Given the description of an element on the screen output the (x, y) to click on. 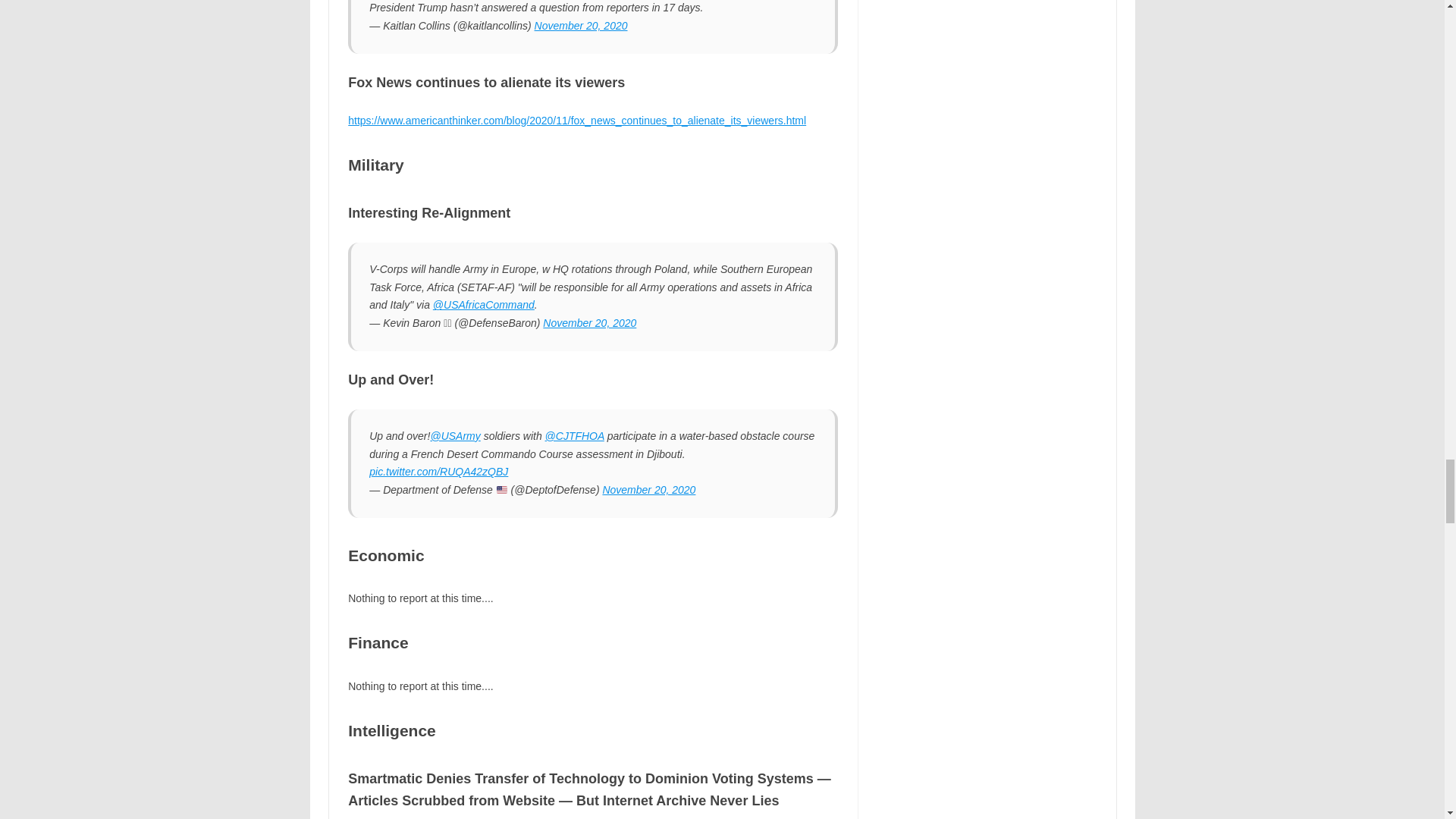
November 20, 2020 (648, 490)
November 20, 2020 (589, 322)
November 20, 2020 (580, 25)
